Given the description of an element on the screen output the (x, y) to click on. 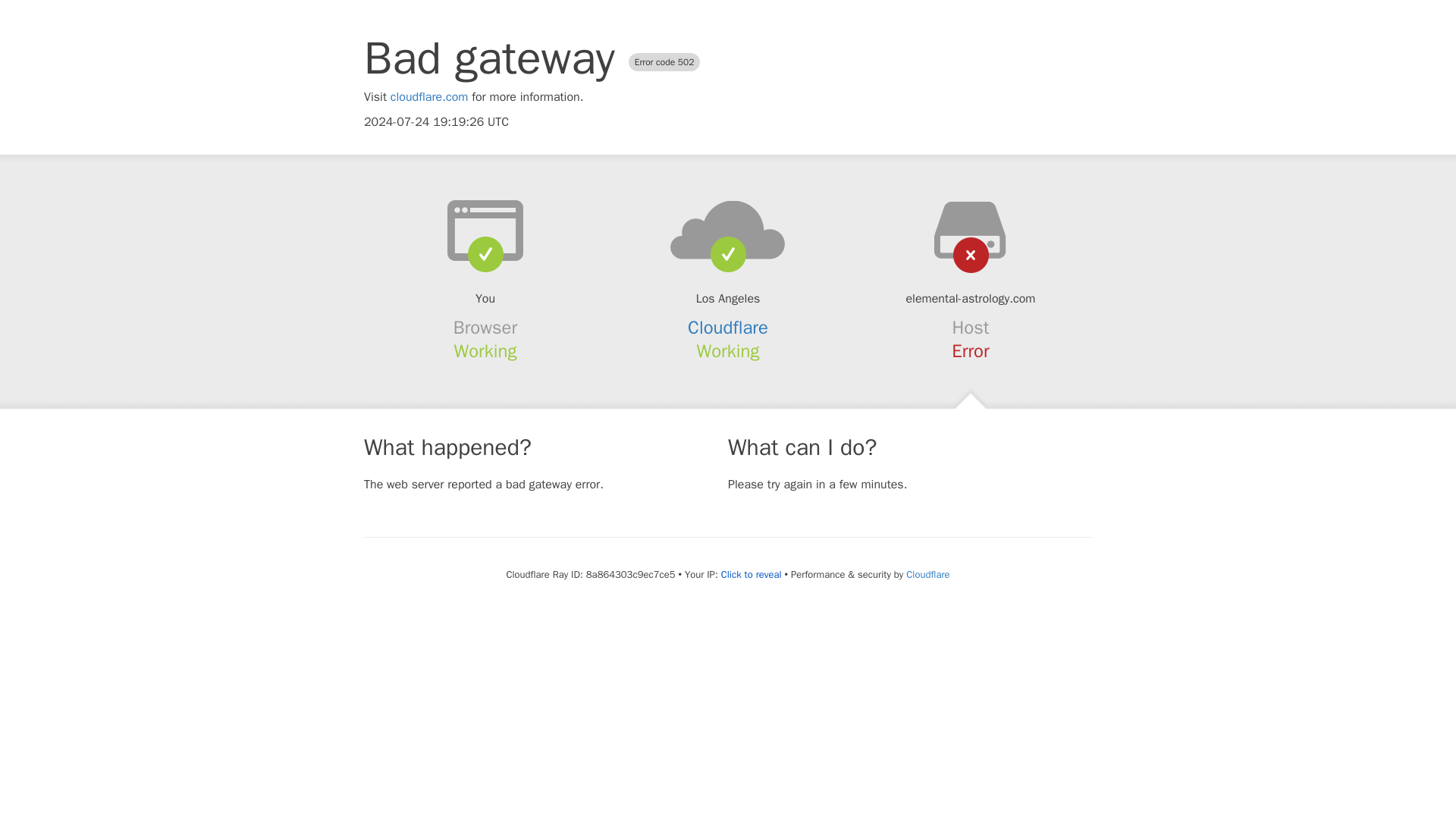
Cloudflare (927, 574)
Click to reveal (750, 574)
Cloudflare (727, 327)
cloudflare.com (429, 96)
